Given the description of an element on the screen output the (x, y) to click on. 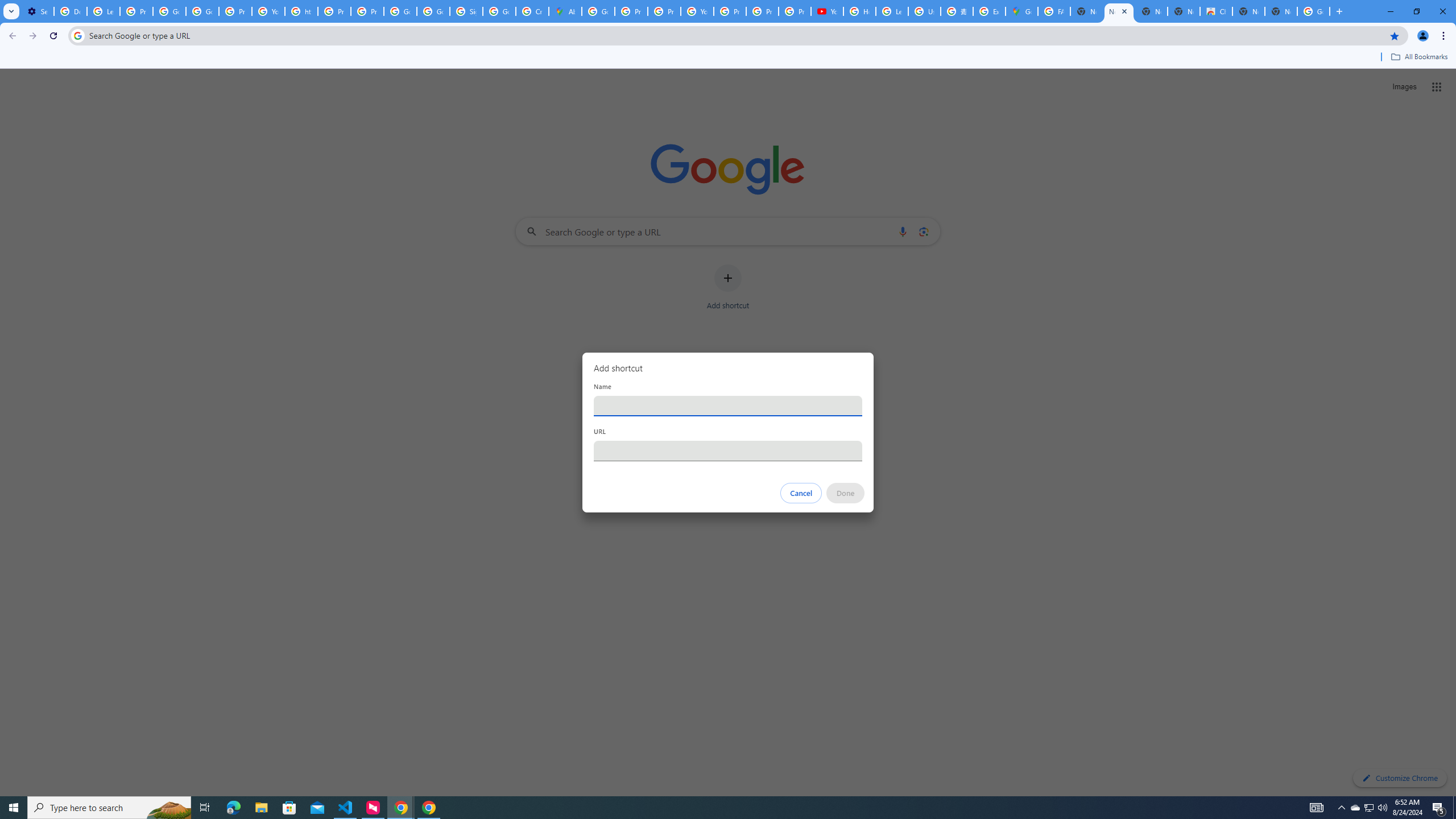
Name (727, 405)
Settings - On startup (37, 11)
New Tab (1281, 11)
Create your Google Account (532, 11)
Privacy Checkup (794, 11)
YouTube (268, 11)
Privacy Help Center - Policies Help (631, 11)
